Given the description of an element on the screen output the (x, y) to click on. 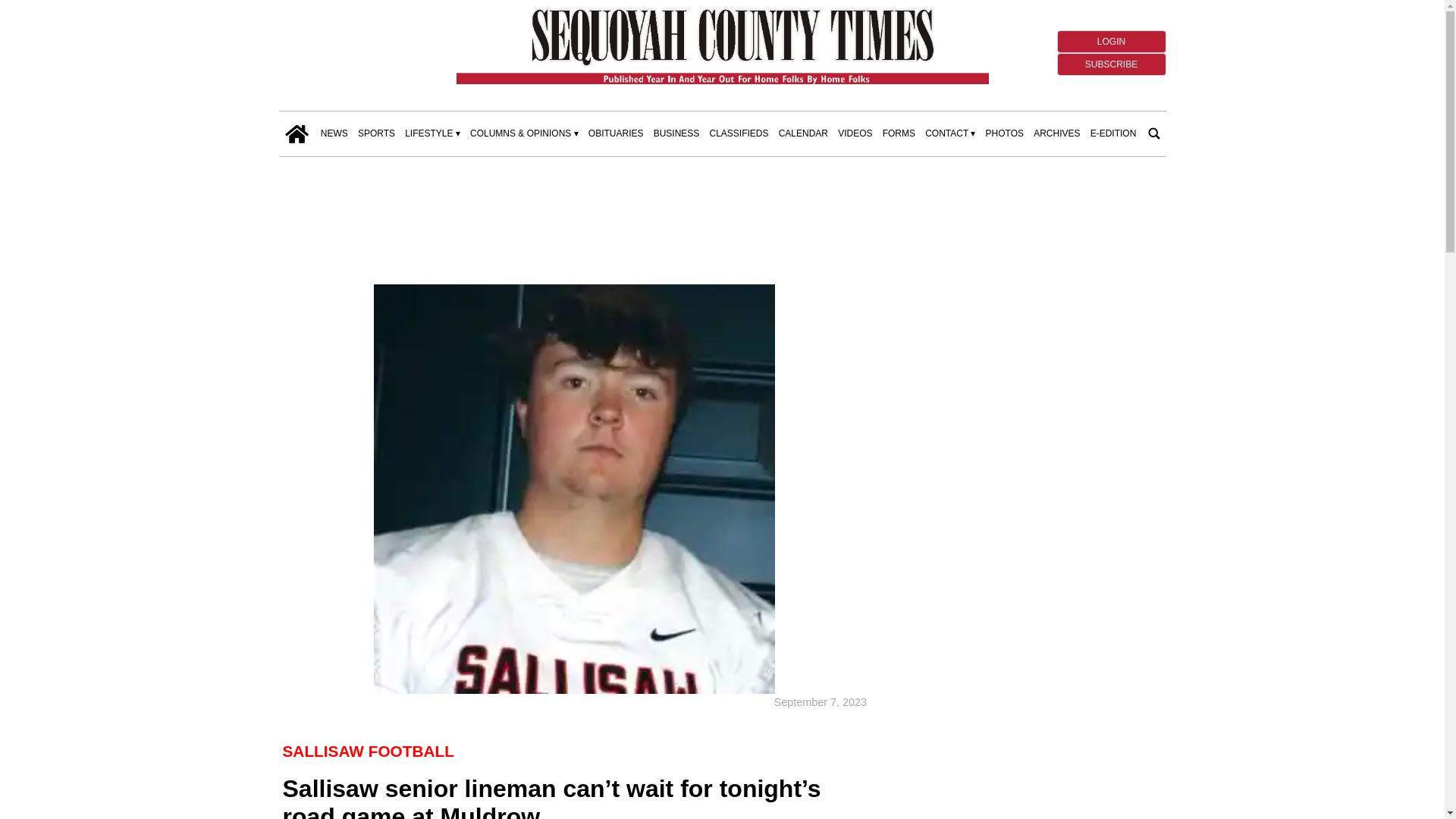
CALENDAR (803, 133)
BUSINESS (676, 133)
LOGIN (1111, 41)
CLASSIFIEDS (738, 133)
NEWS (333, 133)
SPORTS (375, 133)
OBITUARIES (615, 133)
LIFESTYLE (432, 133)
SUBSCRIBE (1111, 64)
